Given the description of an element on the screen output the (x, y) to click on. 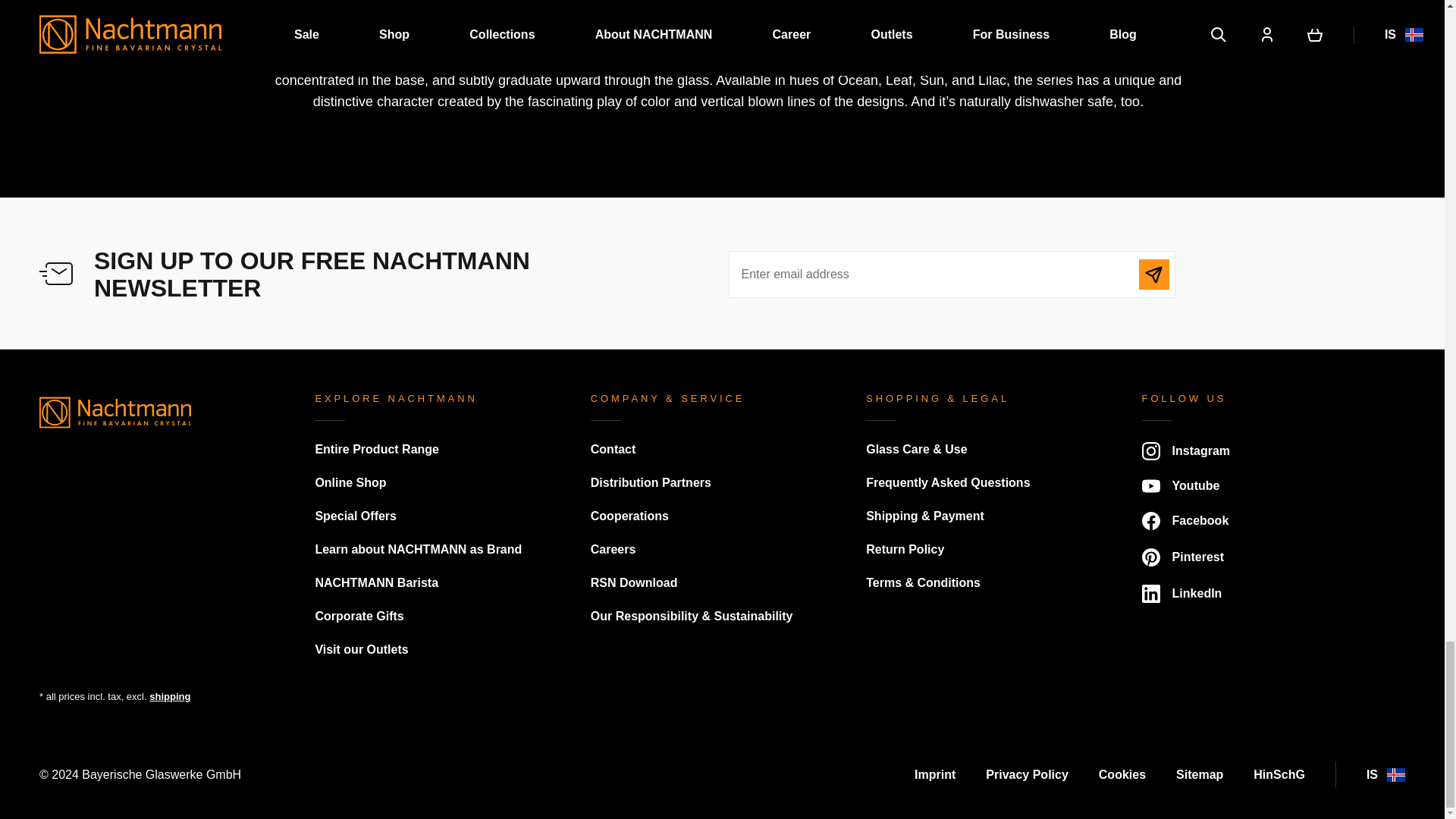
Enter email address (951, 274)
